Given the description of an element on the screen output the (x, y) to click on. 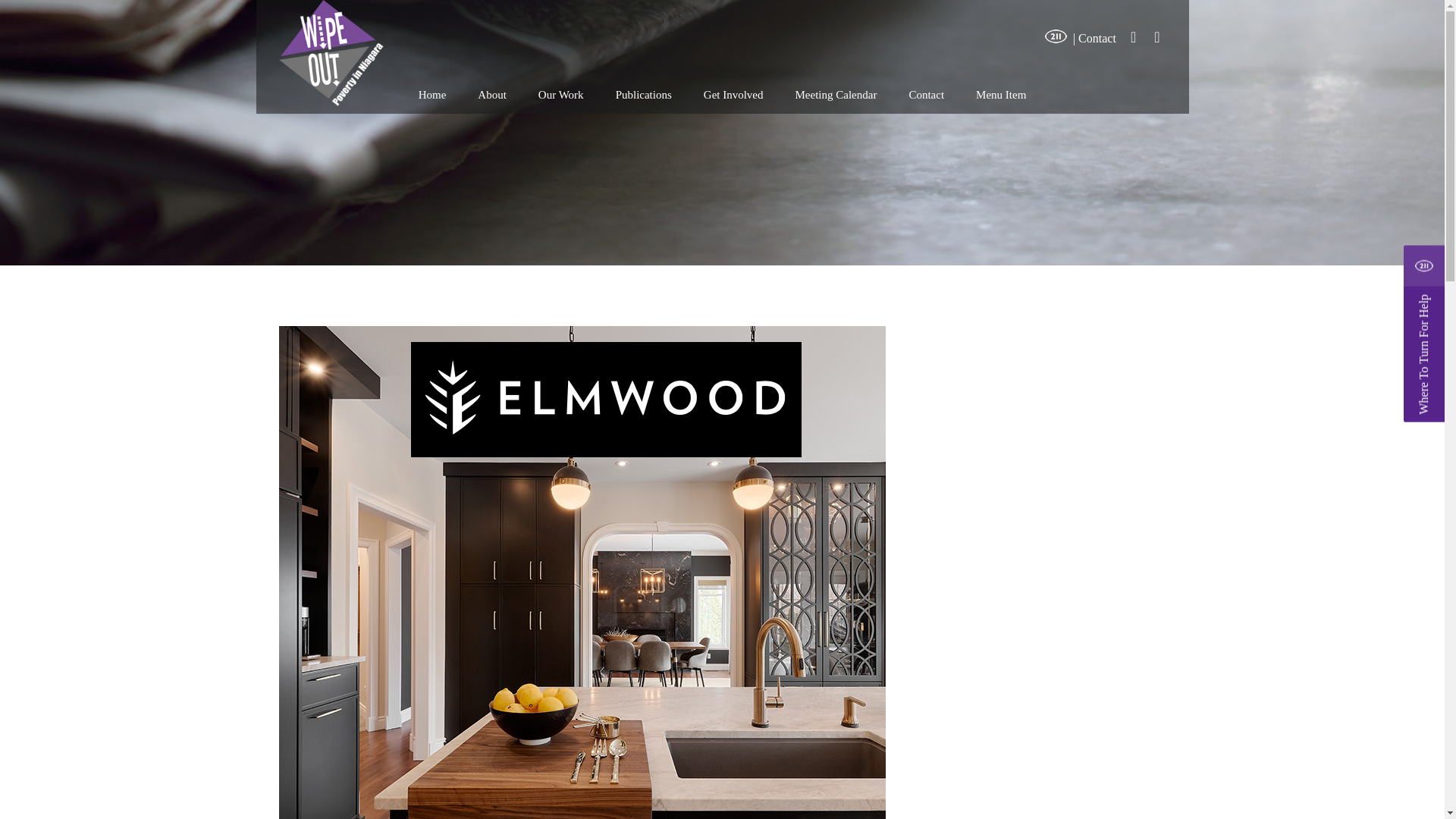
Contact (1097, 38)
Our Work (560, 94)
About (491, 94)
Contact (926, 94)
Meeting Calendar (836, 94)
Menu Item (1000, 94)
Publications (644, 94)
Home (432, 94)
Get Involved (733, 94)
